Given the description of an element on the screen output the (x, y) to click on. 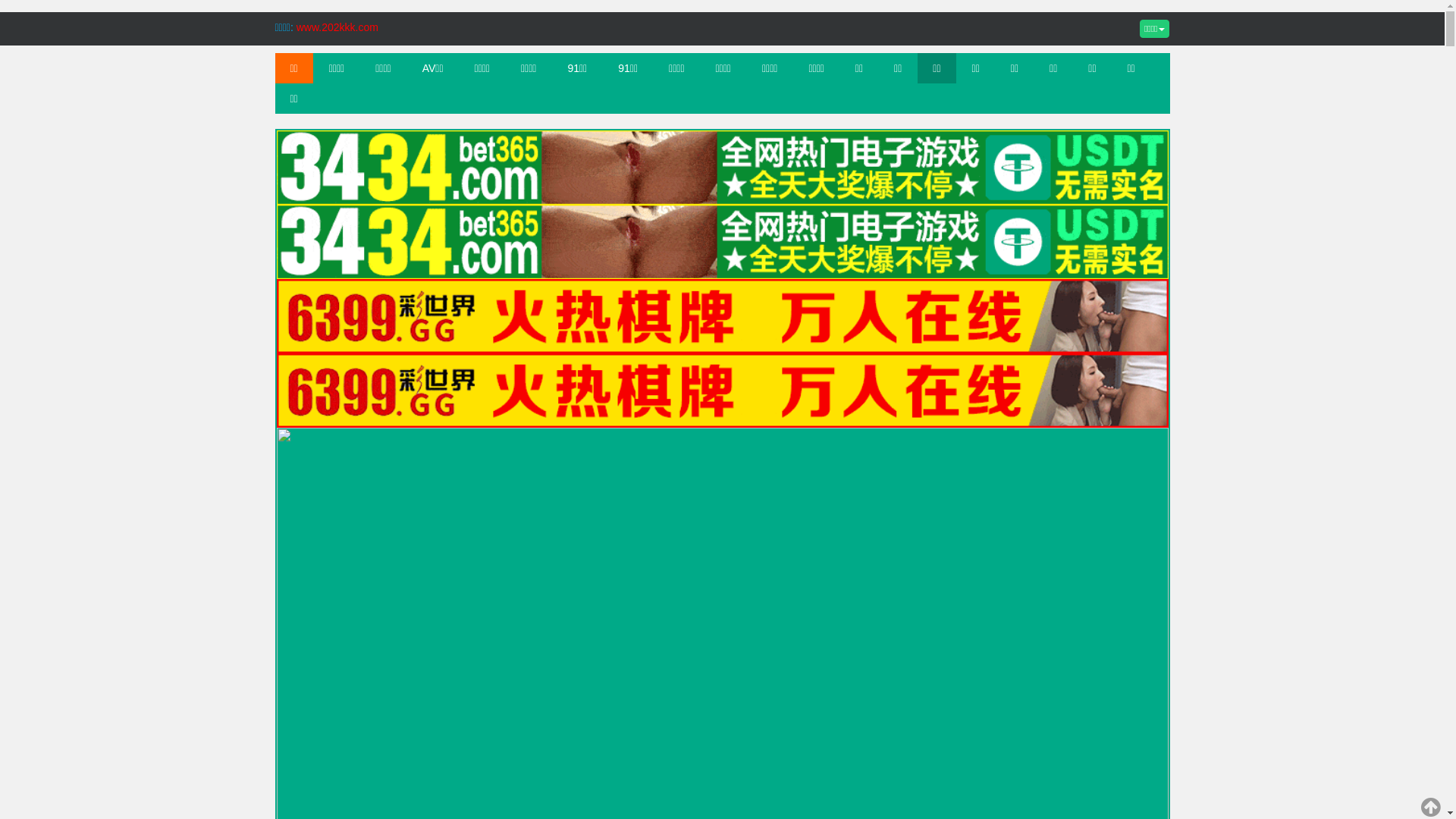
www.202kkk.com Element type: text (337, 27)
